Given the description of an element on the screen output the (x, y) to click on. 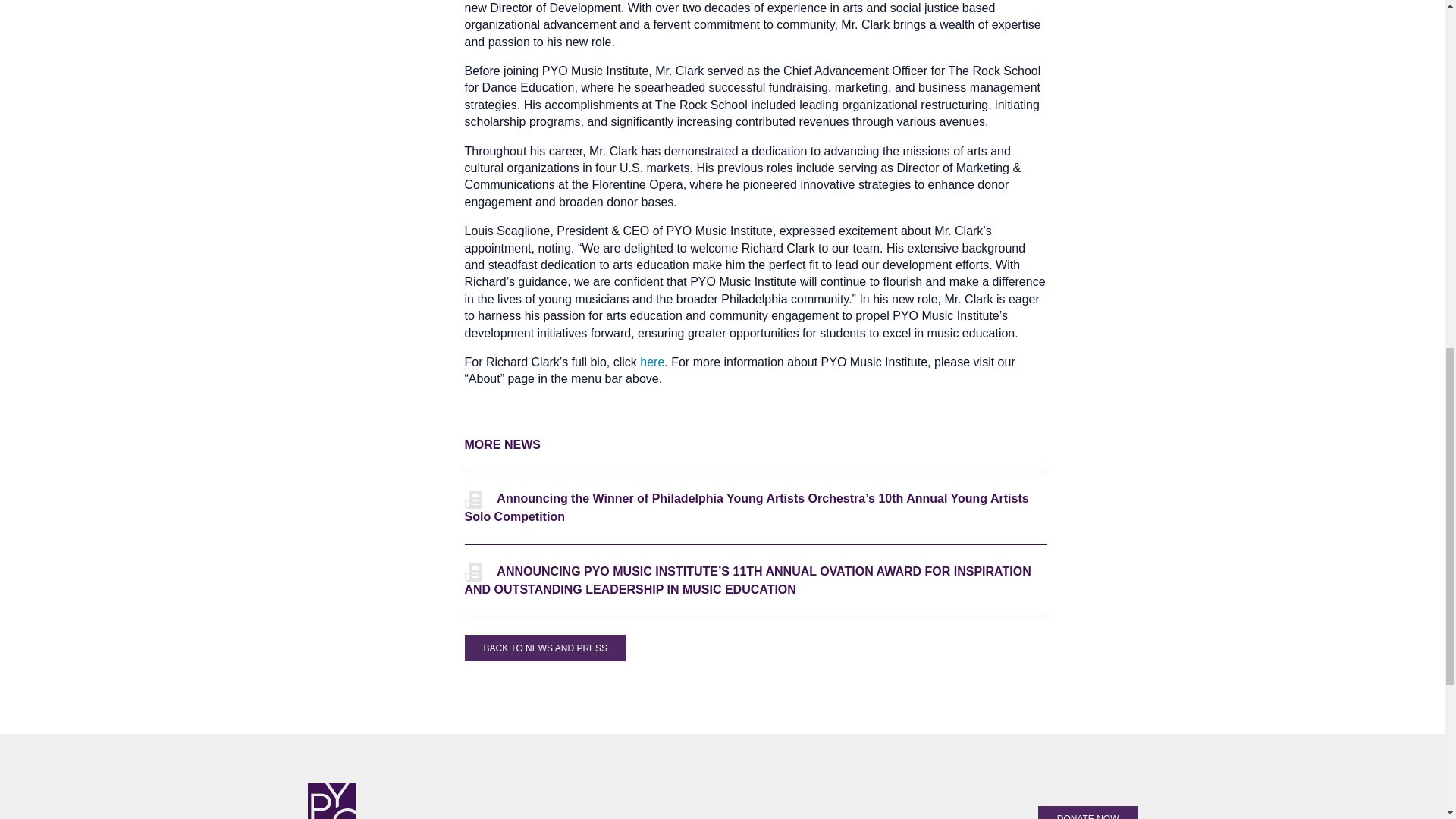
BACK TO NEWS AND PRESS (545, 647)
here (651, 361)
DONATE NOW (1088, 812)
